Given the description of an element on the screen output the (x, y) to click on. 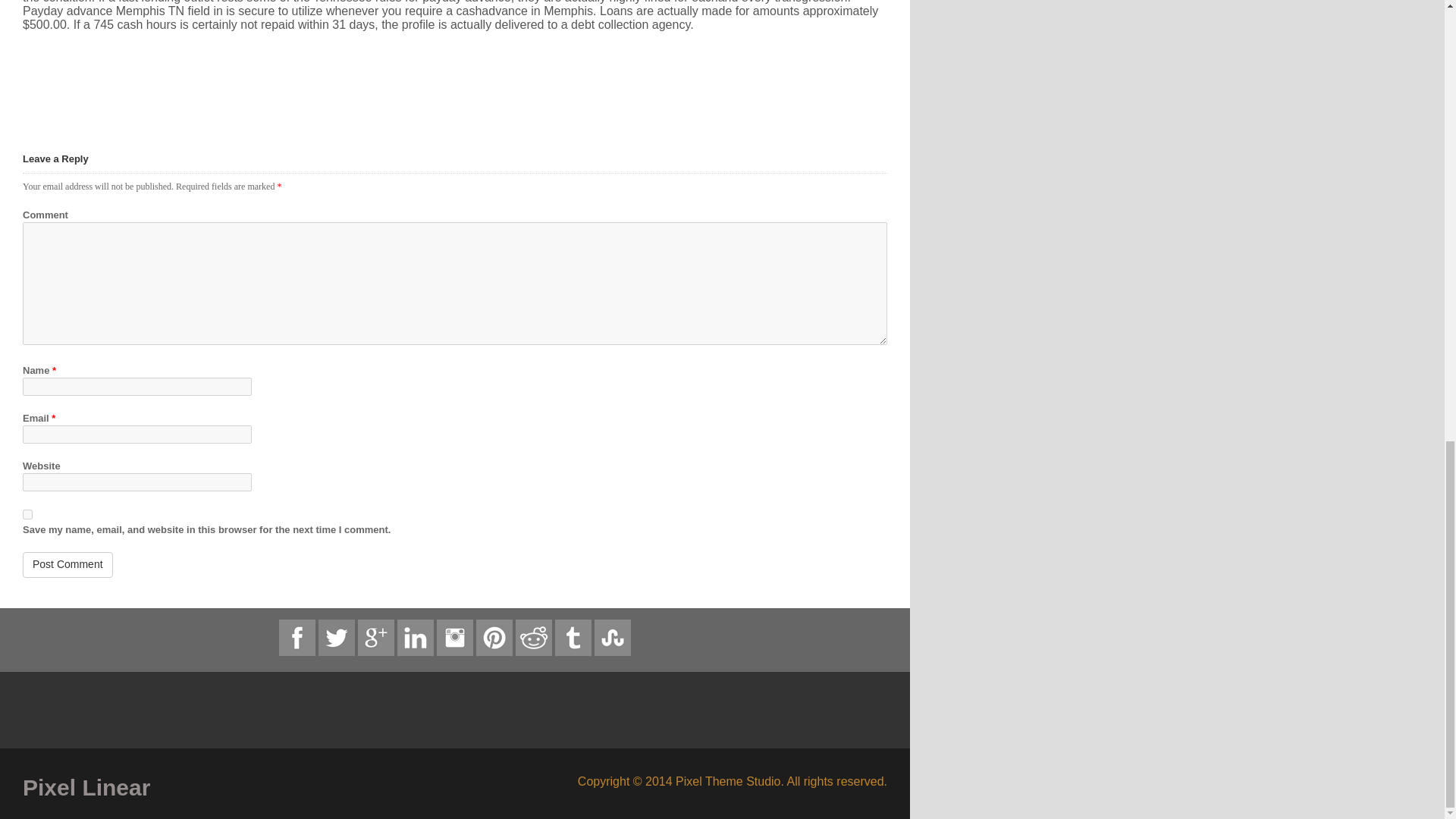
Pixel Linear (233, 787)
Post Comment (68, 565)
Post Comment (68, 565)
yes (27, 514)
